Given the description of an element on the screen output the (x, y) to click on. 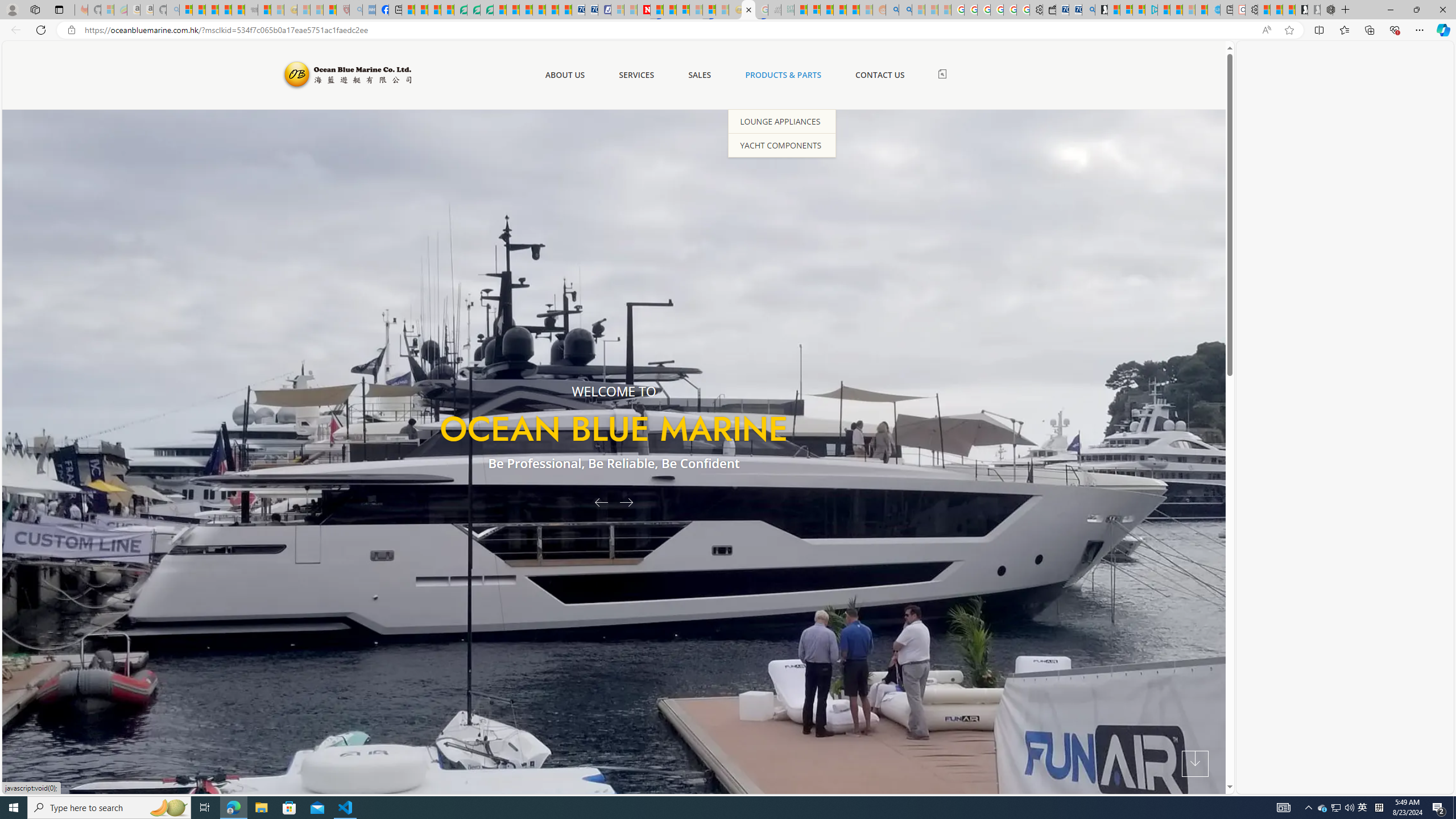
Microsoft account | Privacy - Sleeping (616, 9)
Microsoft Start Gaming (1101, 9)
SALES (699, 74)
LOUNGE APPLIANCES (781, 120)
